Given the description of an element on the screen output the (x, y) to click on. 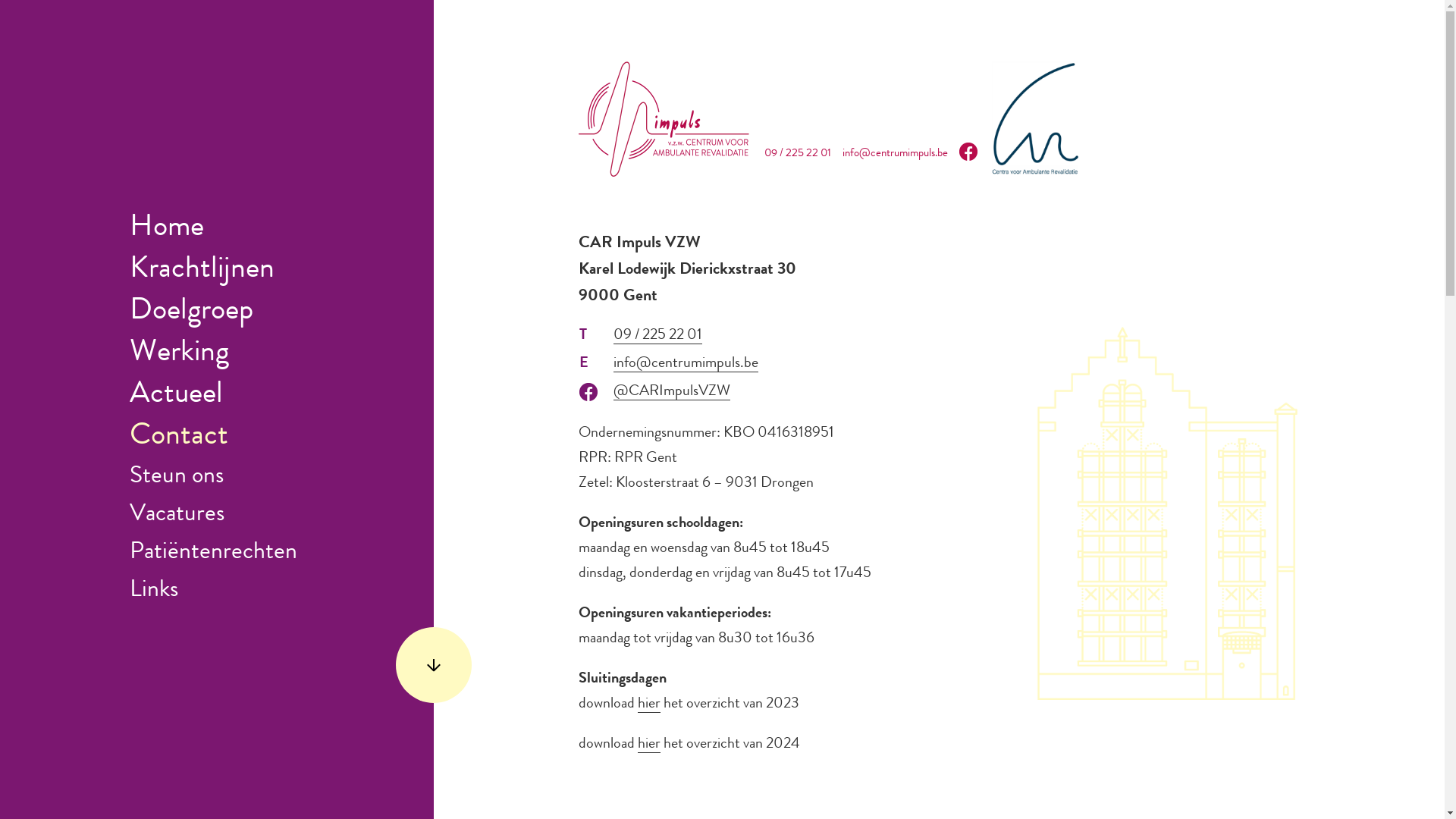
Vacatures Element type: text (176, 515)
info@centrumimpuls.be Element type: text (685, 364)
Krachtlijnen Element type: text (201, 270)
hier Element type: text (648, 704)
hier Element type: text (648, 745)
@CARImpulsVZW Element type: text (671, 392)
Werking Element type: text (179, 353)
Contact Element type: text (178, 437)
09 / 225 22 01 Element type: text (657, 336)
Links Element type: text (153, 591)
info@centrumimpuls.be Element type: text (894, 154)
09 / 225 22 01 Element type: text (797, 154)
Steun ons Element type: text (176, 477)
Home Element type: text (166, 228)
Actueel Element type: text (175, 395)
Doelgroep Element type: text (191, 312)
